Given the description of an element on the screen output the (x, y) to click on. 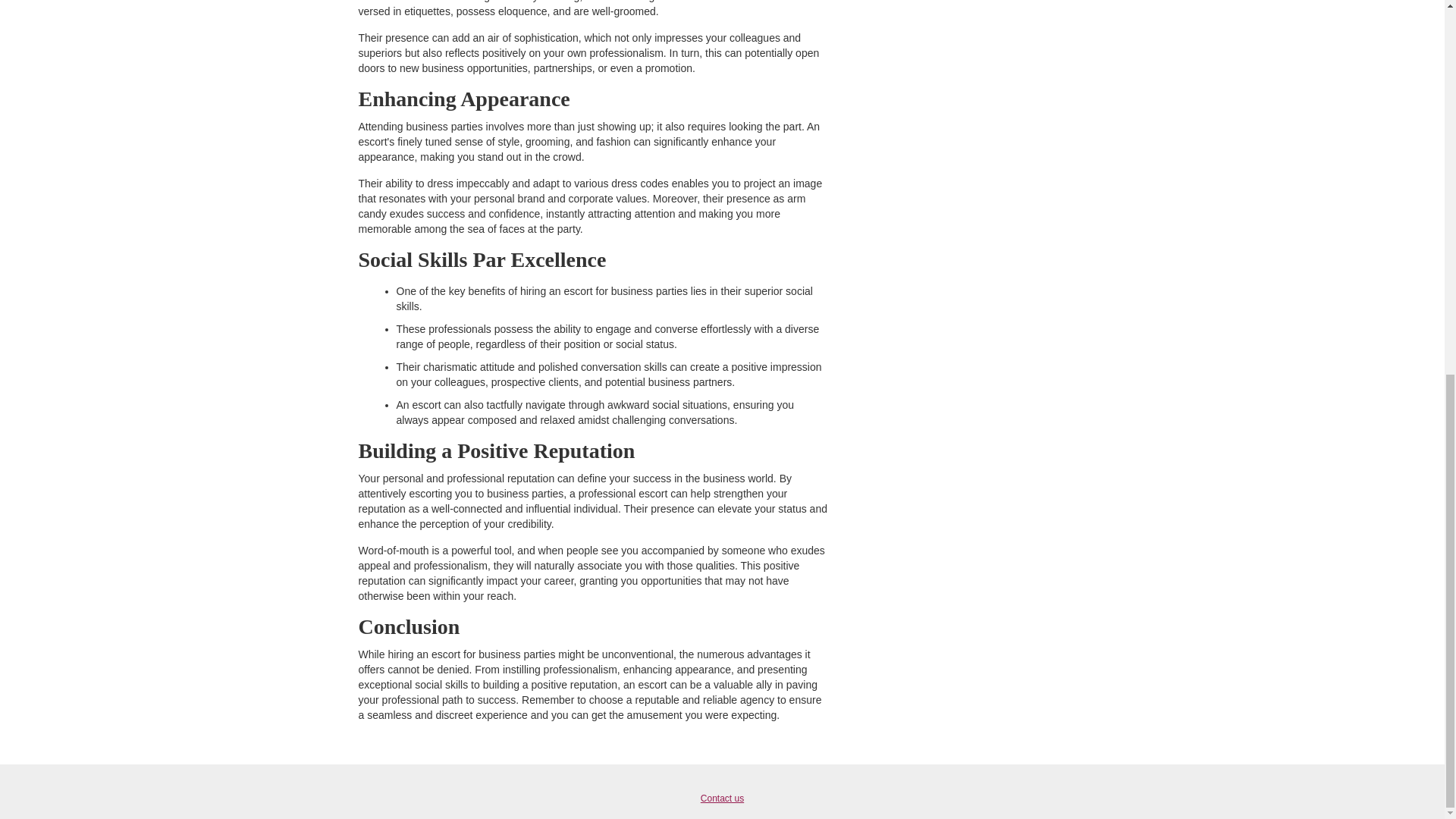
Contact us (722, 798)
